Given the description of an element on the screen output the (x, y) to click on. 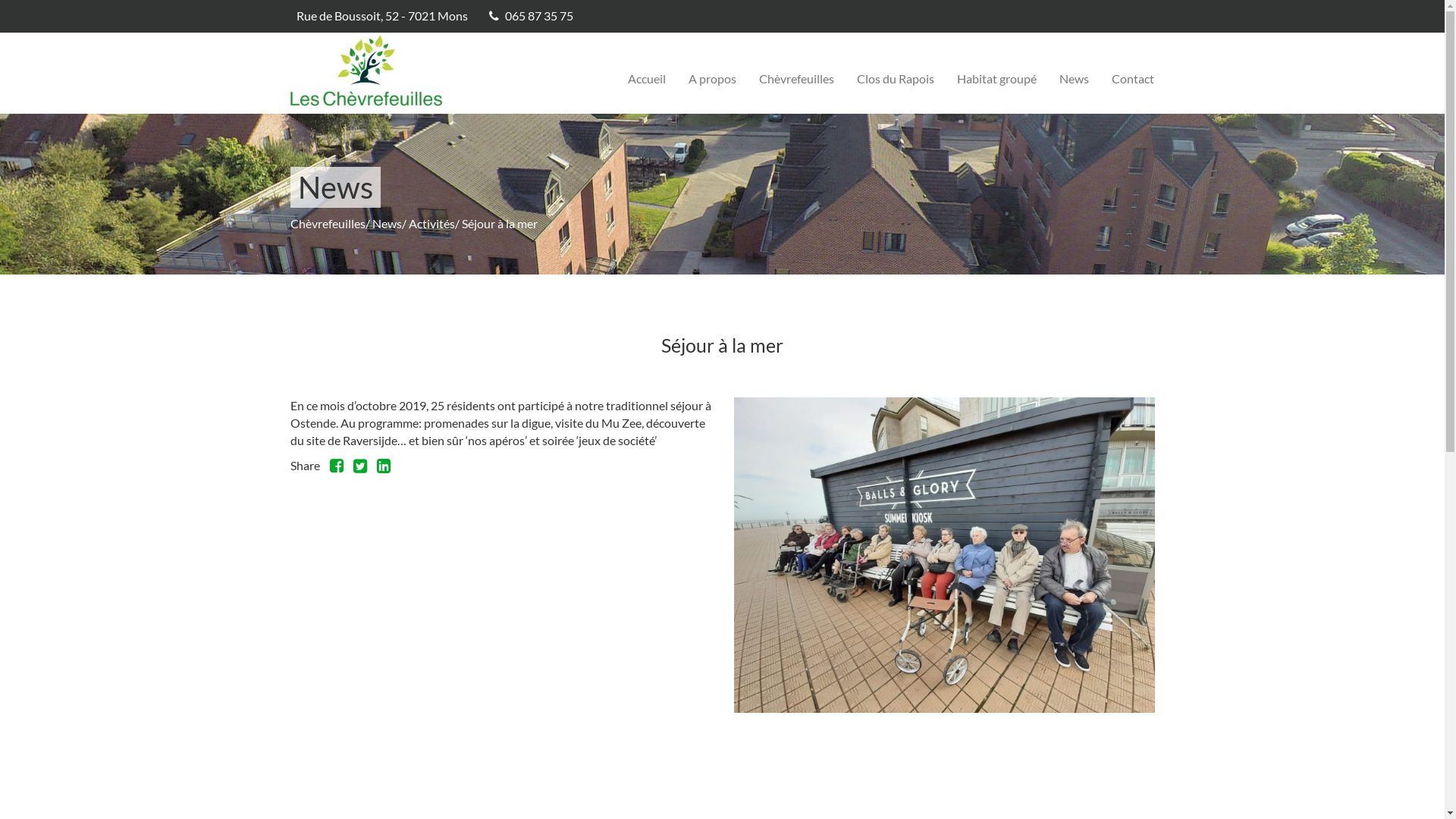
Accueil Element type: text (645, 78)
News Element type: text (1074, 78)
A propos Element type: text (711, 78)
Clos du Rapois Element type: text (894, 78)
065 87 35 75 Element type: text (539, 15)
News Element type: text (386, 223)
Contact Element type: text (1131, 78)
